Given the description of an element on the screen output the (x, y) to click on. 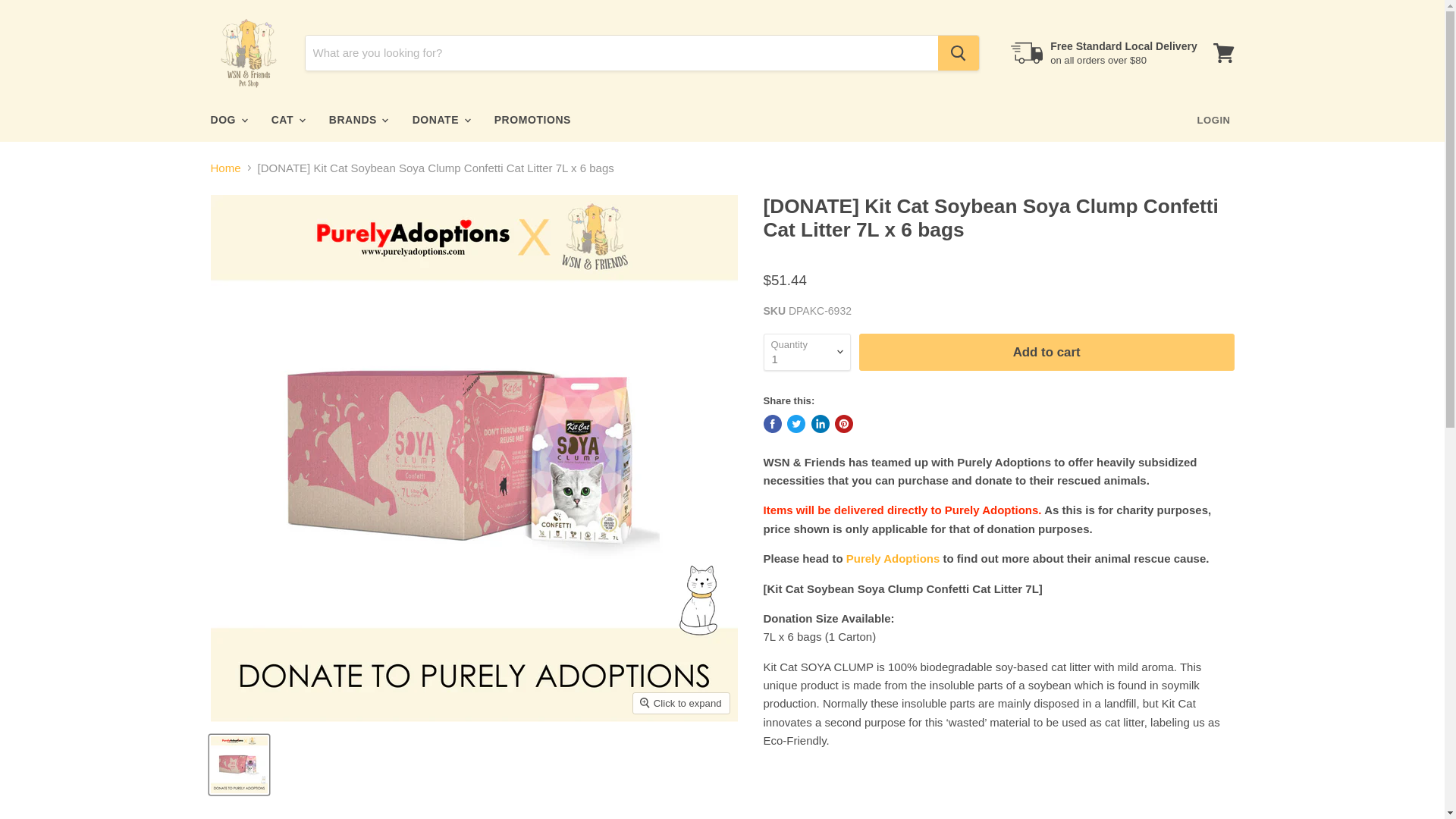
DOG (227, 119)
View cart (1223, 53)
